Given the description of an element on the screen output the (x, y) to click on. 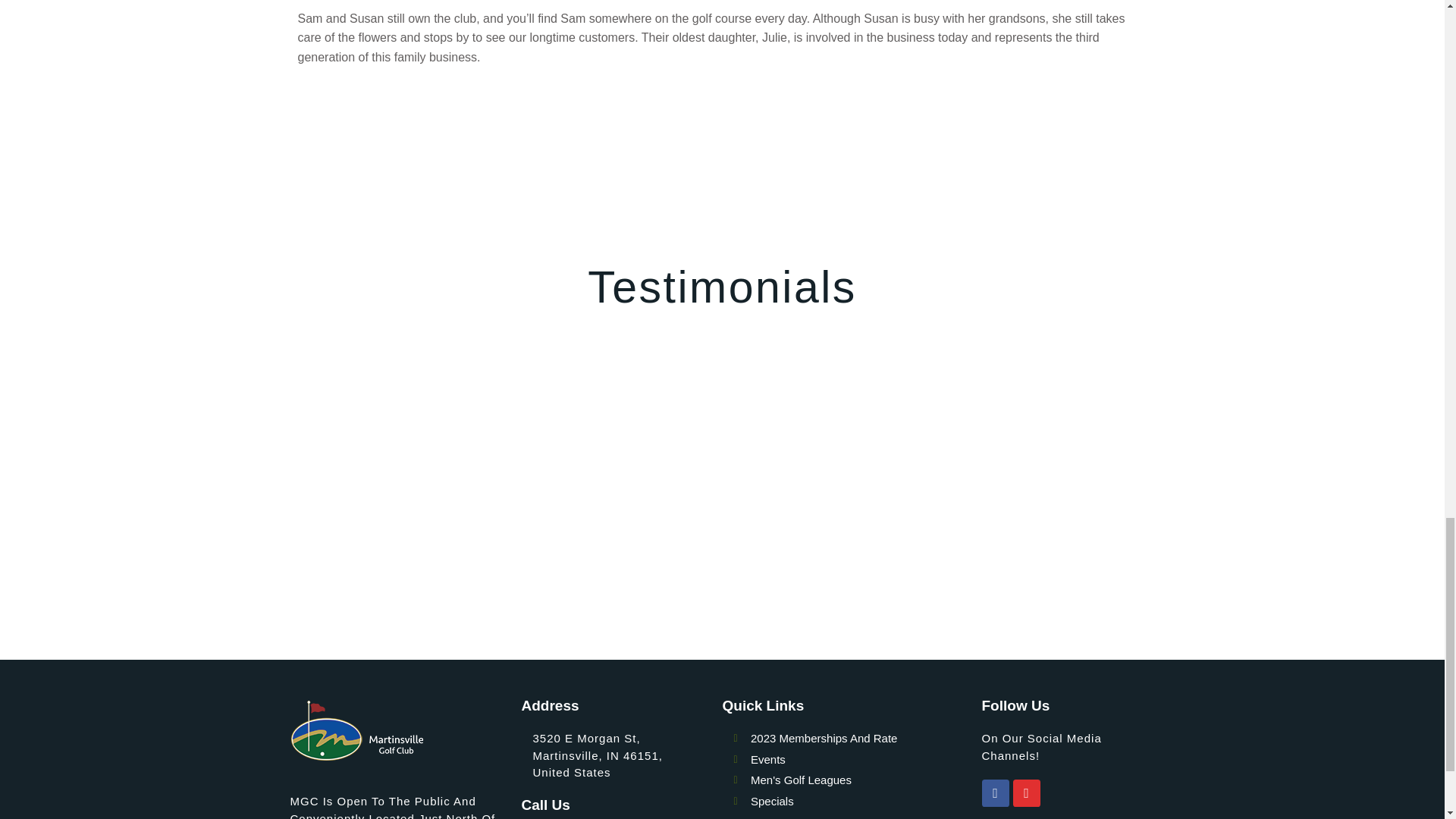
Events (857, 760)
2023 Memberships And Rate (857, 738)
Instagram (1027, 792)
Specials (857, 801)
Facebook (995, 792)
Men's Golf Leagues (857, 780)
